Given the description of an element on the screen output the (x, y) to click on. 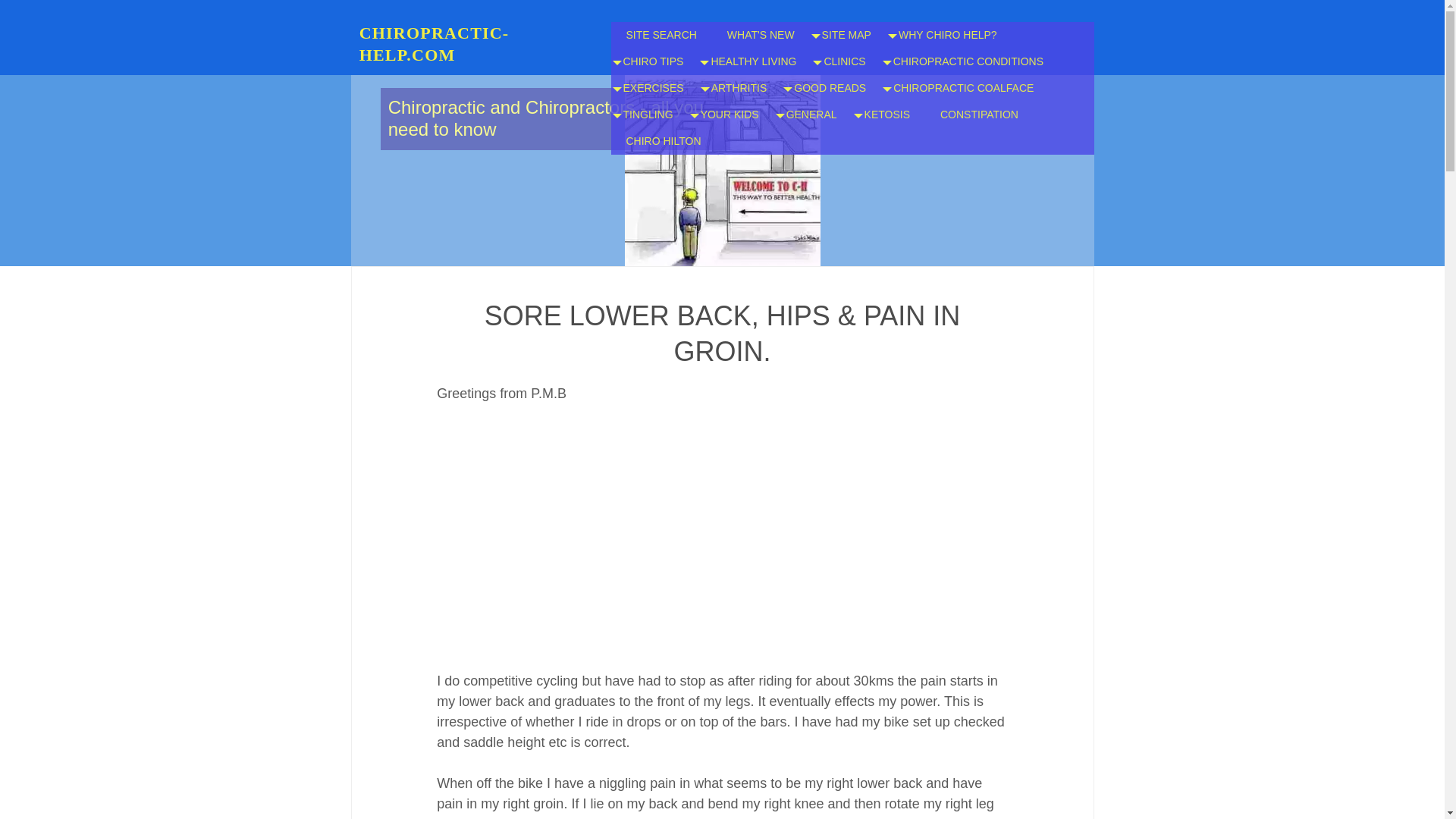
WHAT'S NEW (760, 35)
SITE SEARCH (661, 35)
CHIROPRACTIC-HELP.COM (434, 43)
